Given the description of an element on the screen output the (x, y) to click on. 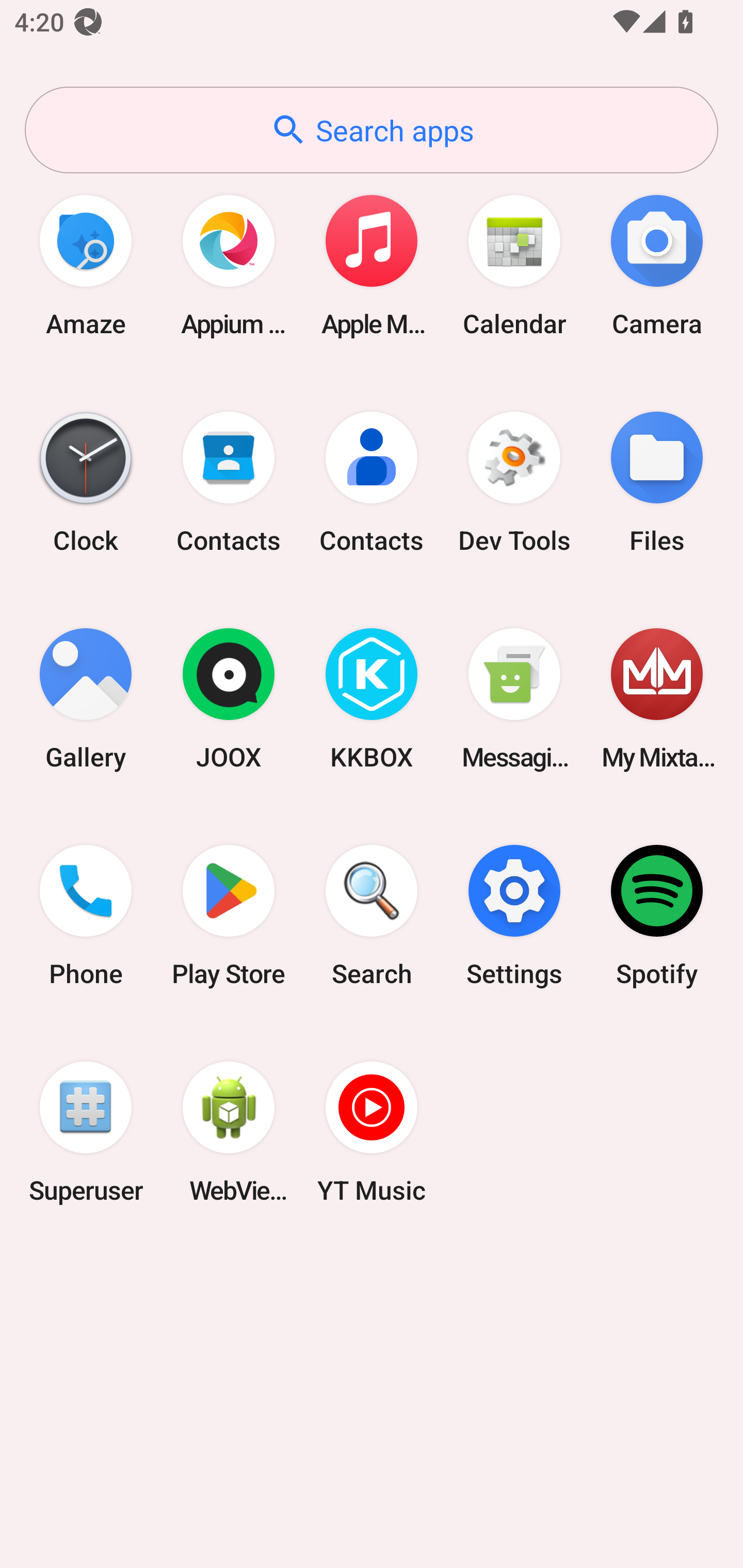
  Search apps (371, 130)
Amaze (85, 264)
Appium Settings (228, 264)
Apple Music (371, 264)
Calendar (514, 264)
Camera (656, 264)
Clock (85, 482)
Contacts (228, 482)
Contacts (371, 482)
Dev Tools (514, 482)
Files (656, 482)
Gallery (85, 699)
JOOX (228, 699)
KKBOX (371, 699)
Messaging (514, 699)
My Mixtapez (656, 699)
Phone (85, 915)
Play Store (228, 915)
Search (371, 915)
Settings (514, 915)
Spotify (656, 915)
Superuser (85, 1131)
WebView Browser Tester (228, 1131)
YT Music (371, 1131)
